Given the description of an element on the screen output the (x, y) to click on. 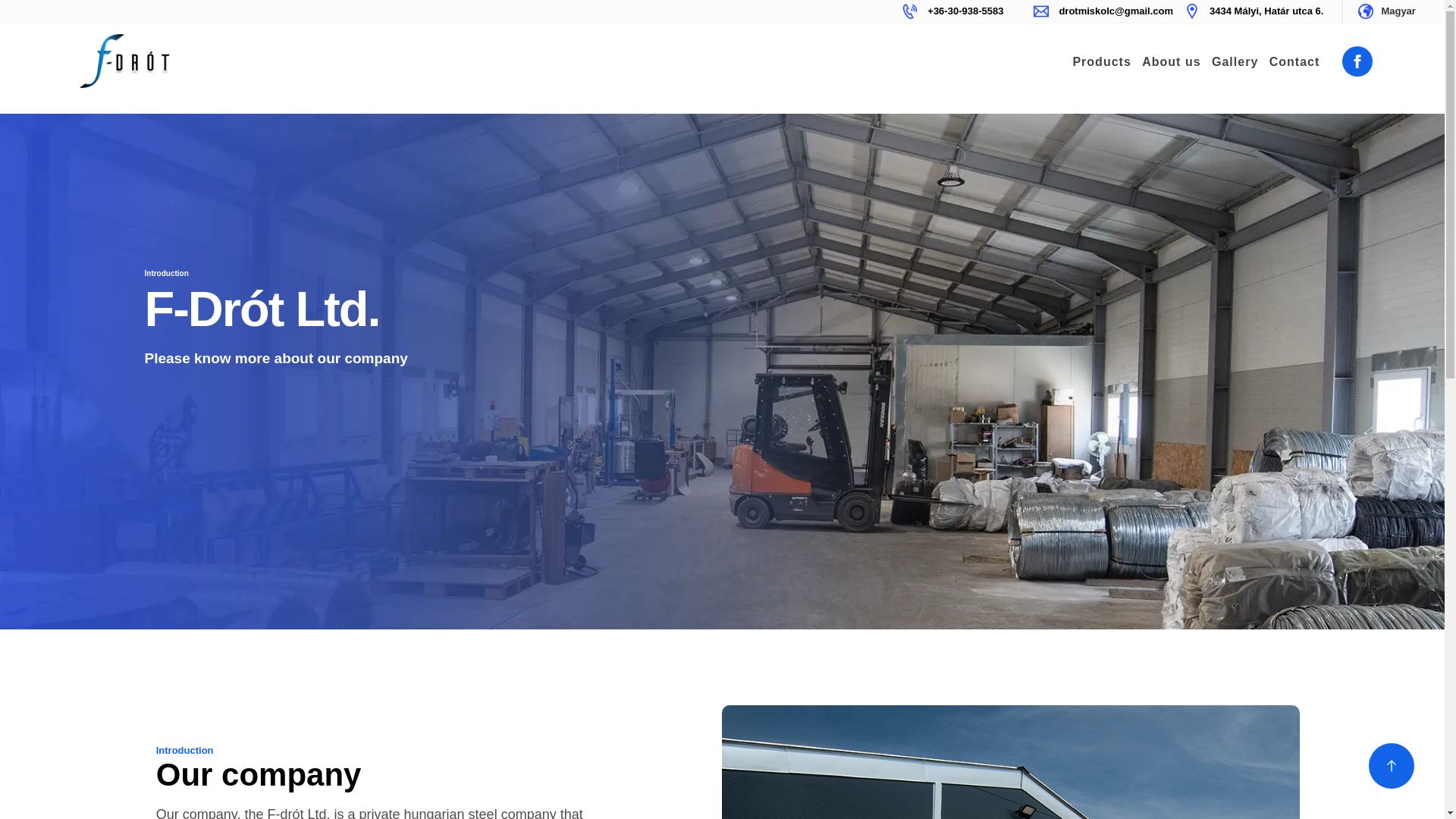
Gallery (1235, 61)
Magyar (1397, 10)
Products (1101, 61)
About us (1171, 61)
Contact (1294, 61)
